Given the description of an element on the screen output the (x, y) to click on. 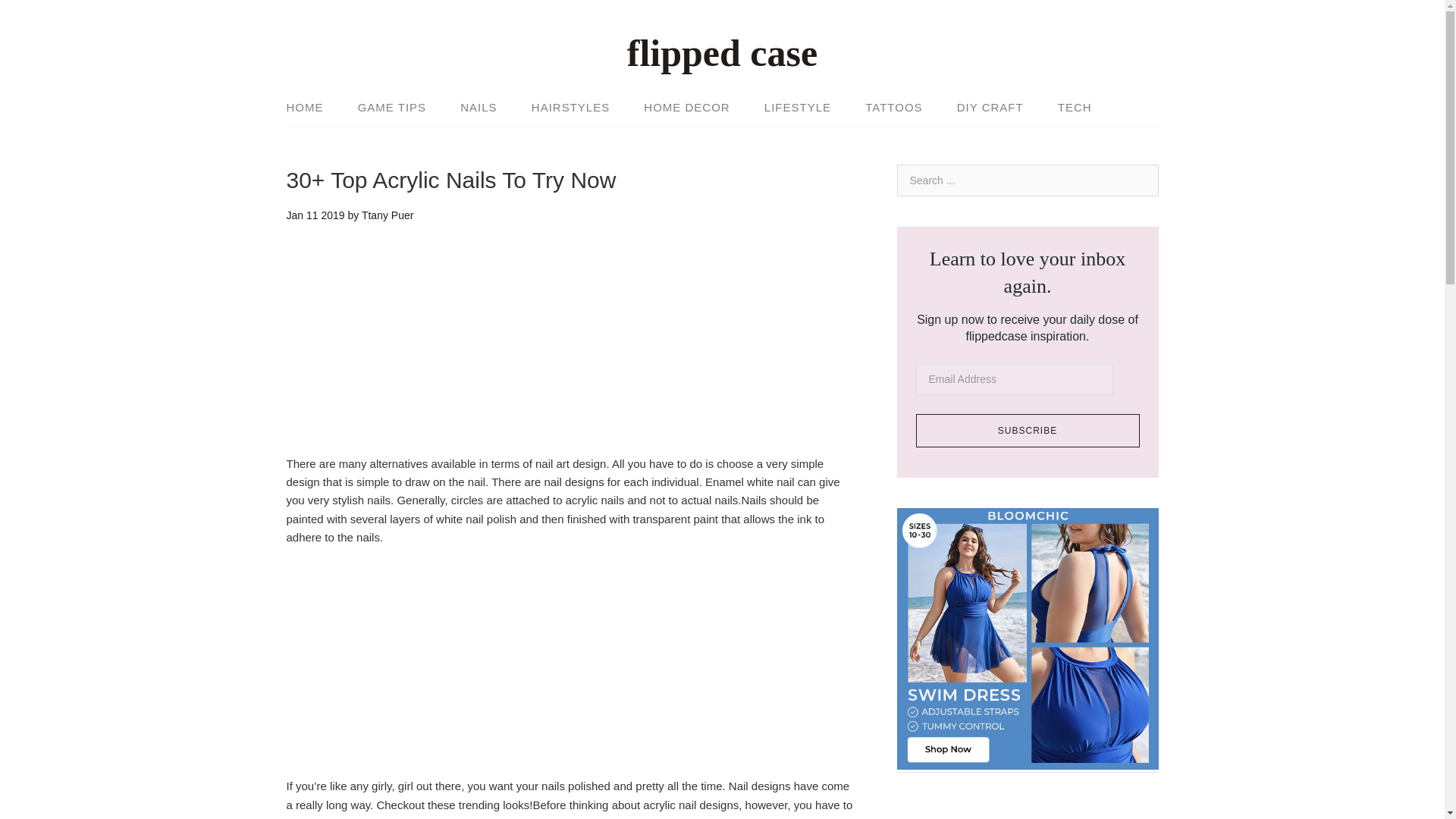
DIY CRAFT (990, 107)
Advertisement (571, 348)
flippedcase (721, 52)
Advertisement (571, 671)
NAILS (478, 107)
Subscribe (1027, 430)
TECH (1074, 107)
TATTOOS (893, 107)
Search for: (1026, 180)
LIFESTYLE (797, 107)
flipped case (721, 52)
GAME TIPS (391, 107)
HAIRSTYLES (570, 107)
